Given the description of an element on the screen output the (x, y) to click on. 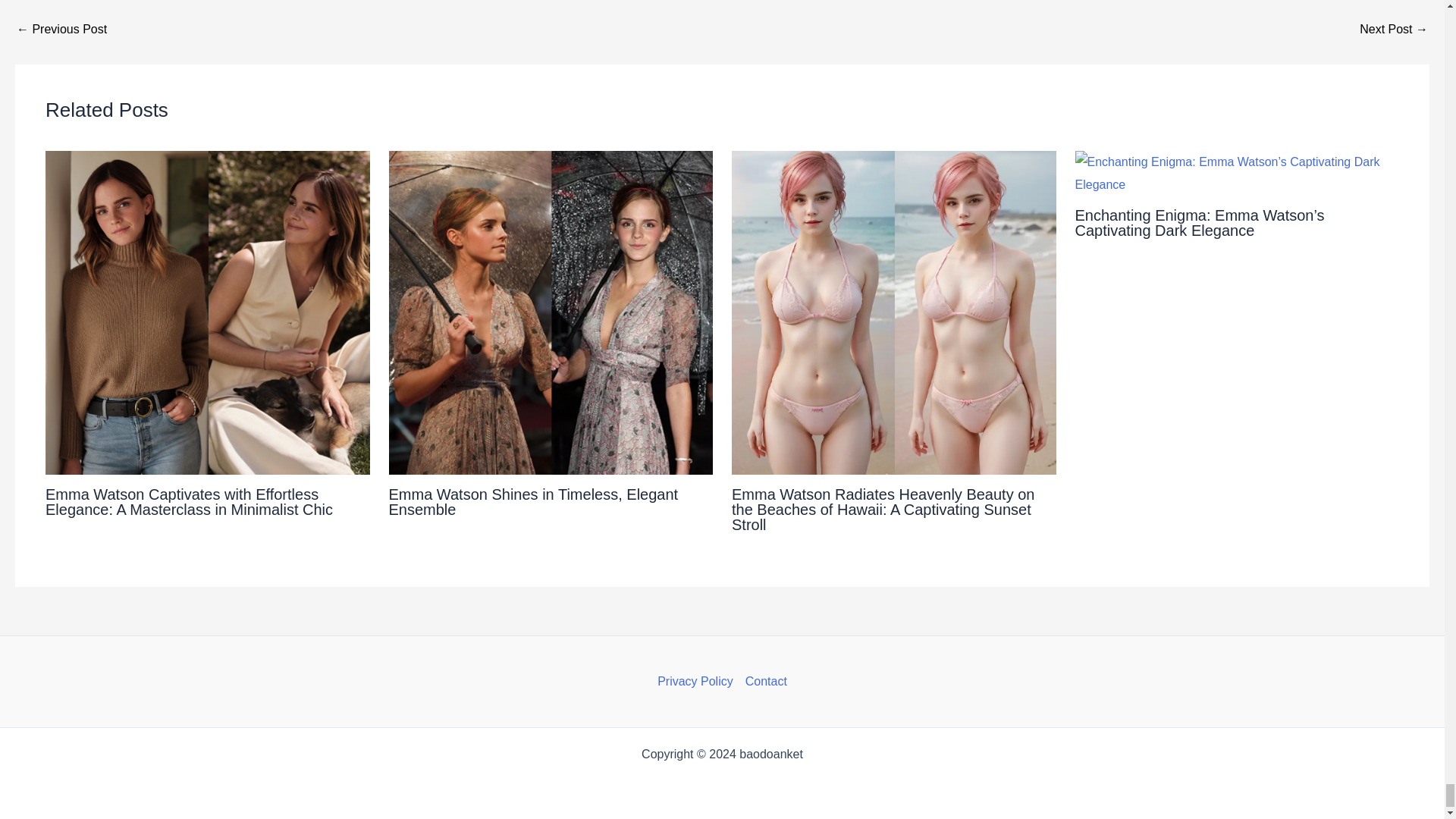
Emma Watson Shines in Timeless, Elegant Ensemble (533, 501)
Privacy Policy (698, 681)
Contact (763, 681)
